Given the description of an element on the screen output the (x, y) to click on. 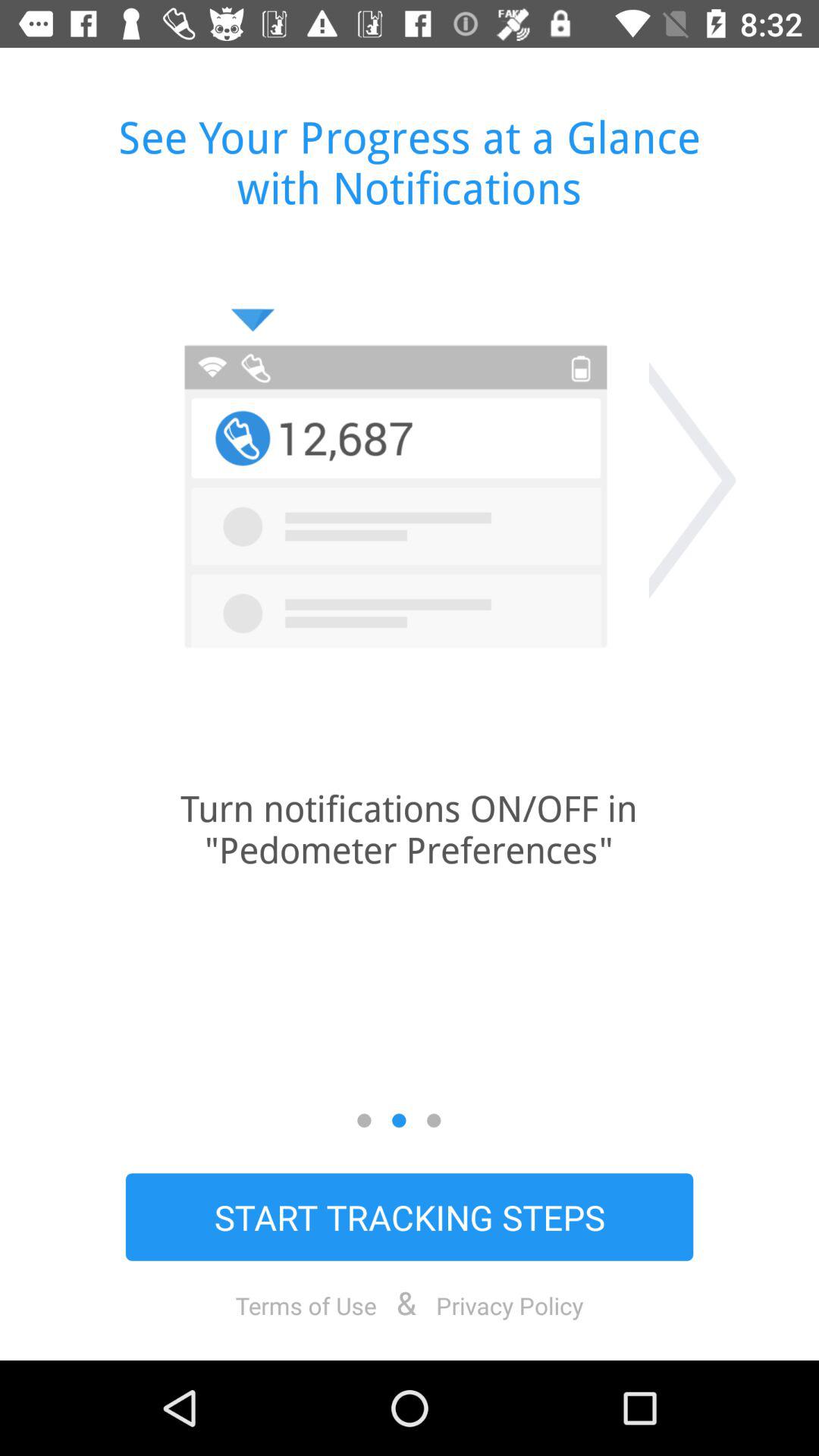
click icon below start tracking steps item (305, 1305)
